Given the description of an element on the screen output the (x, y) to click on. 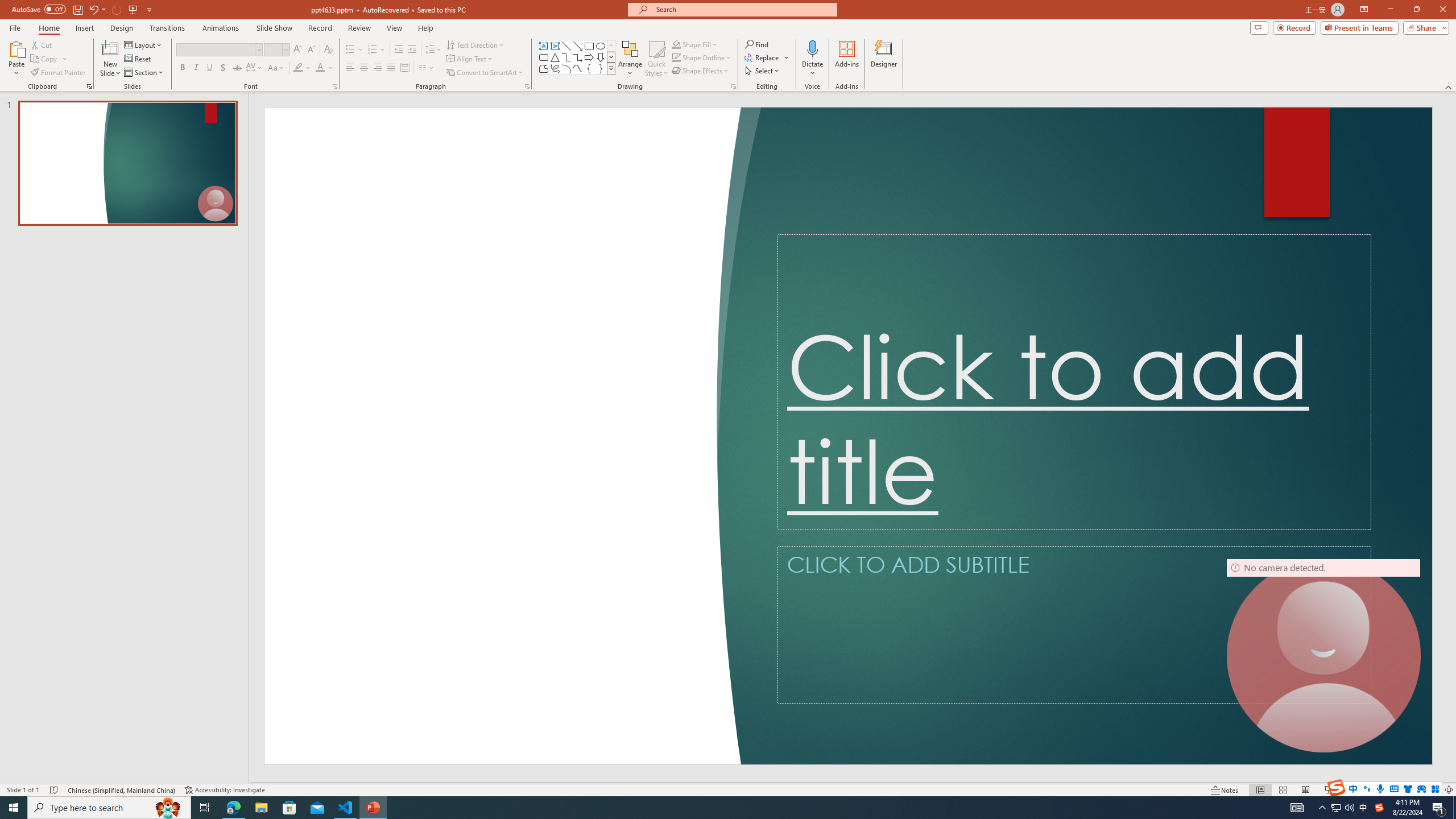
Line (566, 45)
Curve (577, 68)
Quick Styles (656, 58)
Left Brace (589, 68)
Freeform: Shape (543, 68)
